Given the description of an element on the screen output the (x, y) to click on. 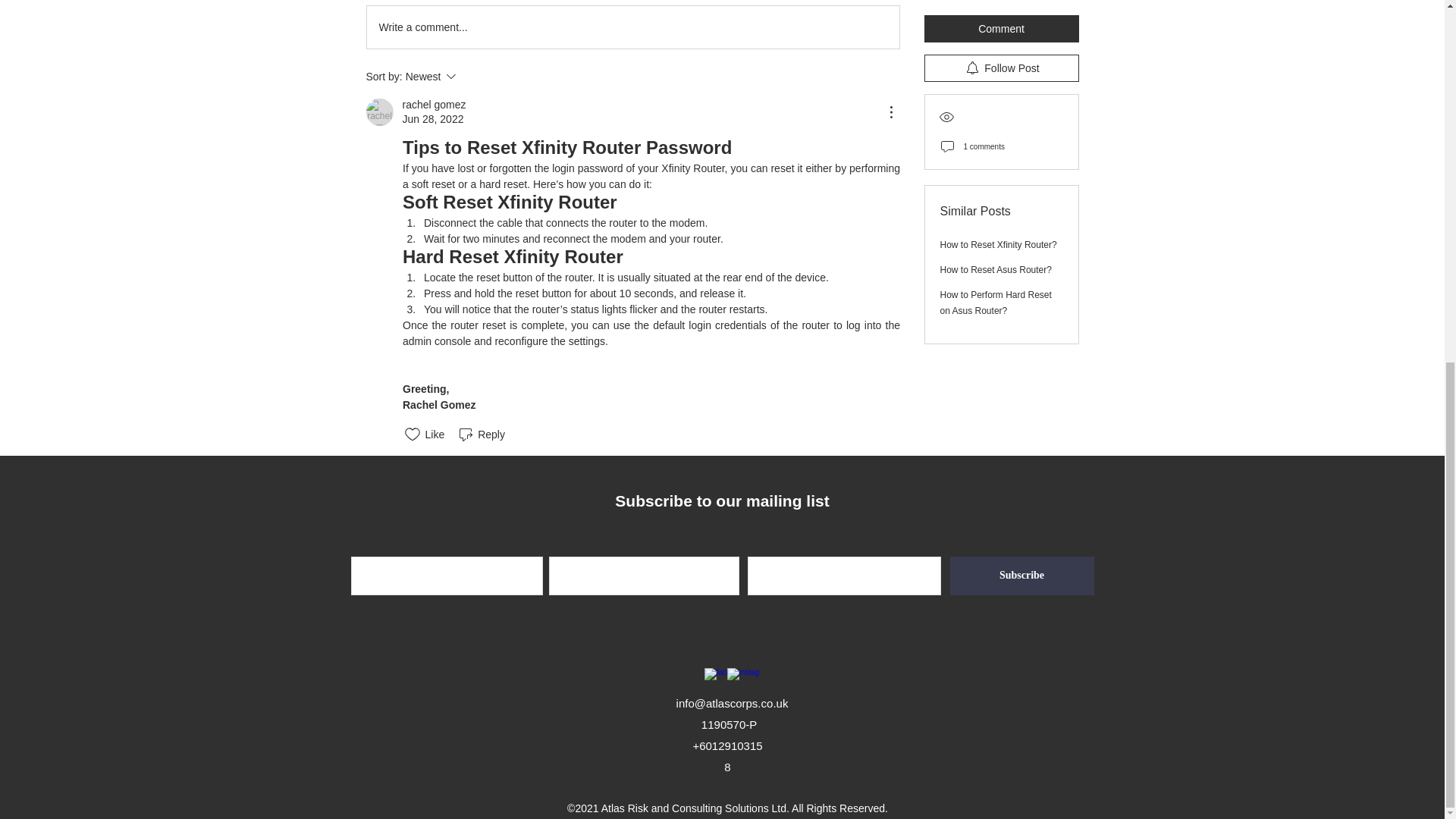
rachel gomez (433, 104)
Write a comment... (471, 76)
Subscribe (632, 26)
rachel gomez (1021, 575)
Reply (379, 112)
